Given the description of an element on the screen output the (x, y) to click on. 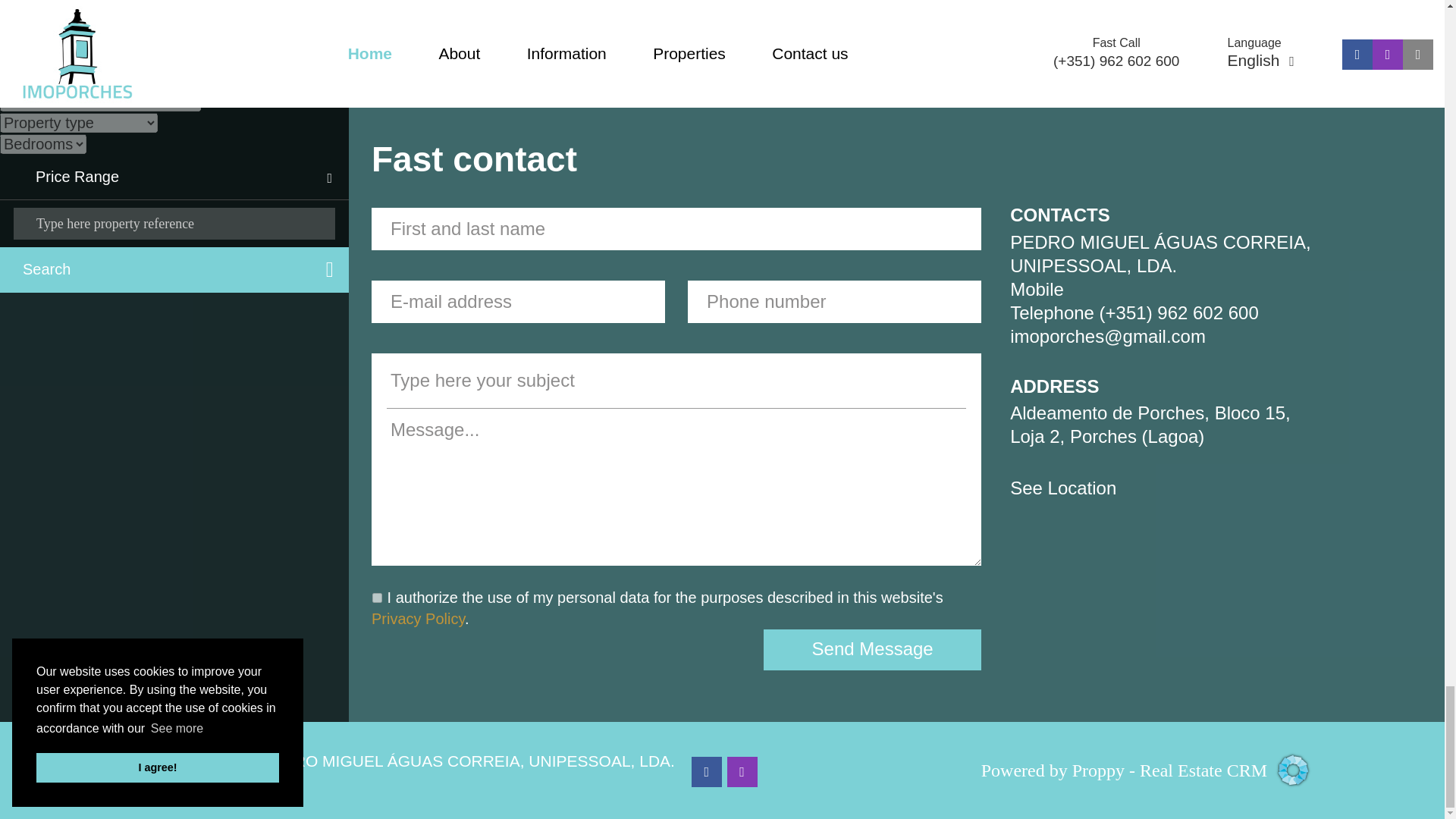
on (376, 597)
